Given the description of an element on the screen output the (x, y) to click on. 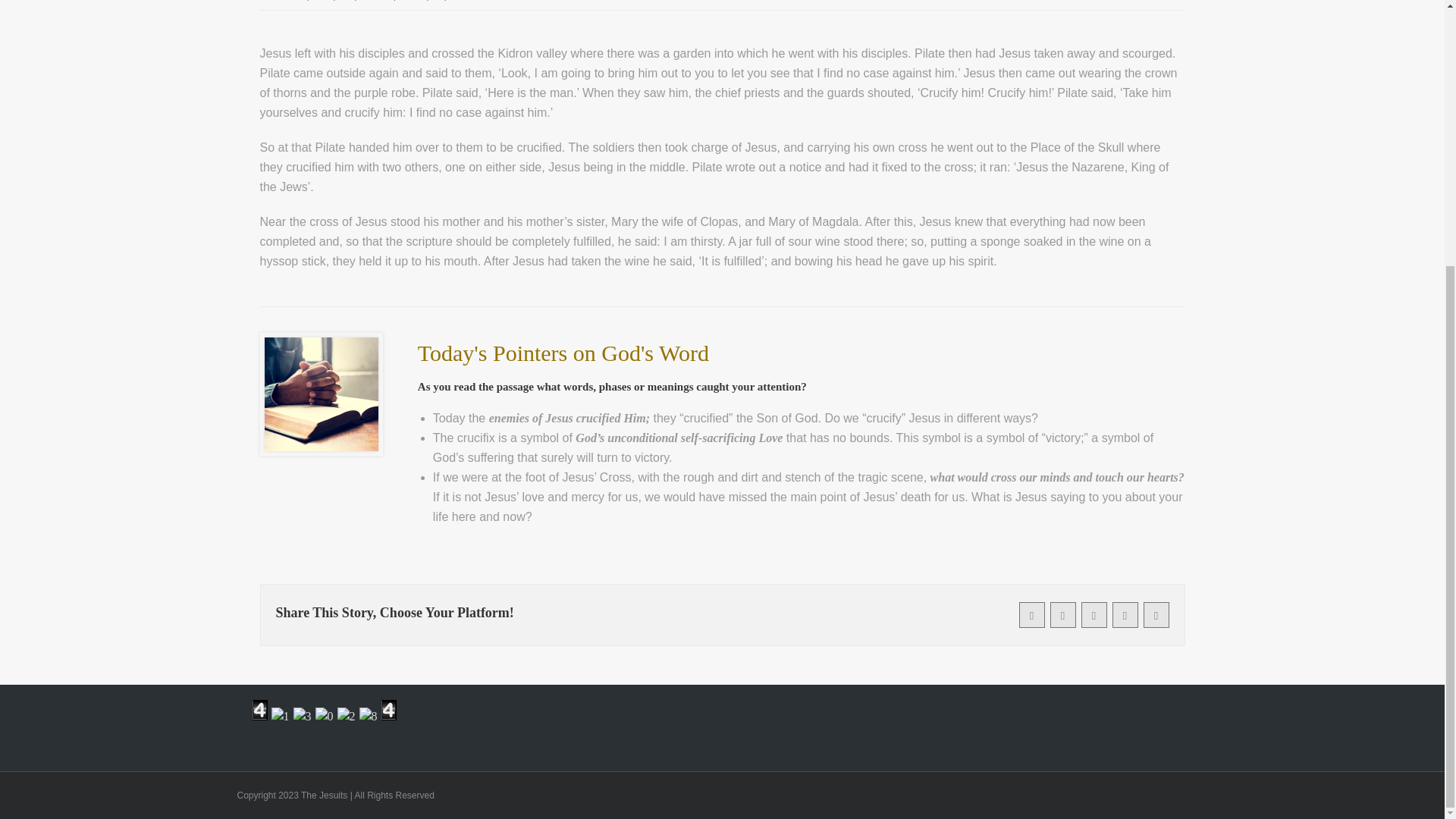
Praying (320, 394)
